Given the description of an element on the screen output the (x, y) to click on. 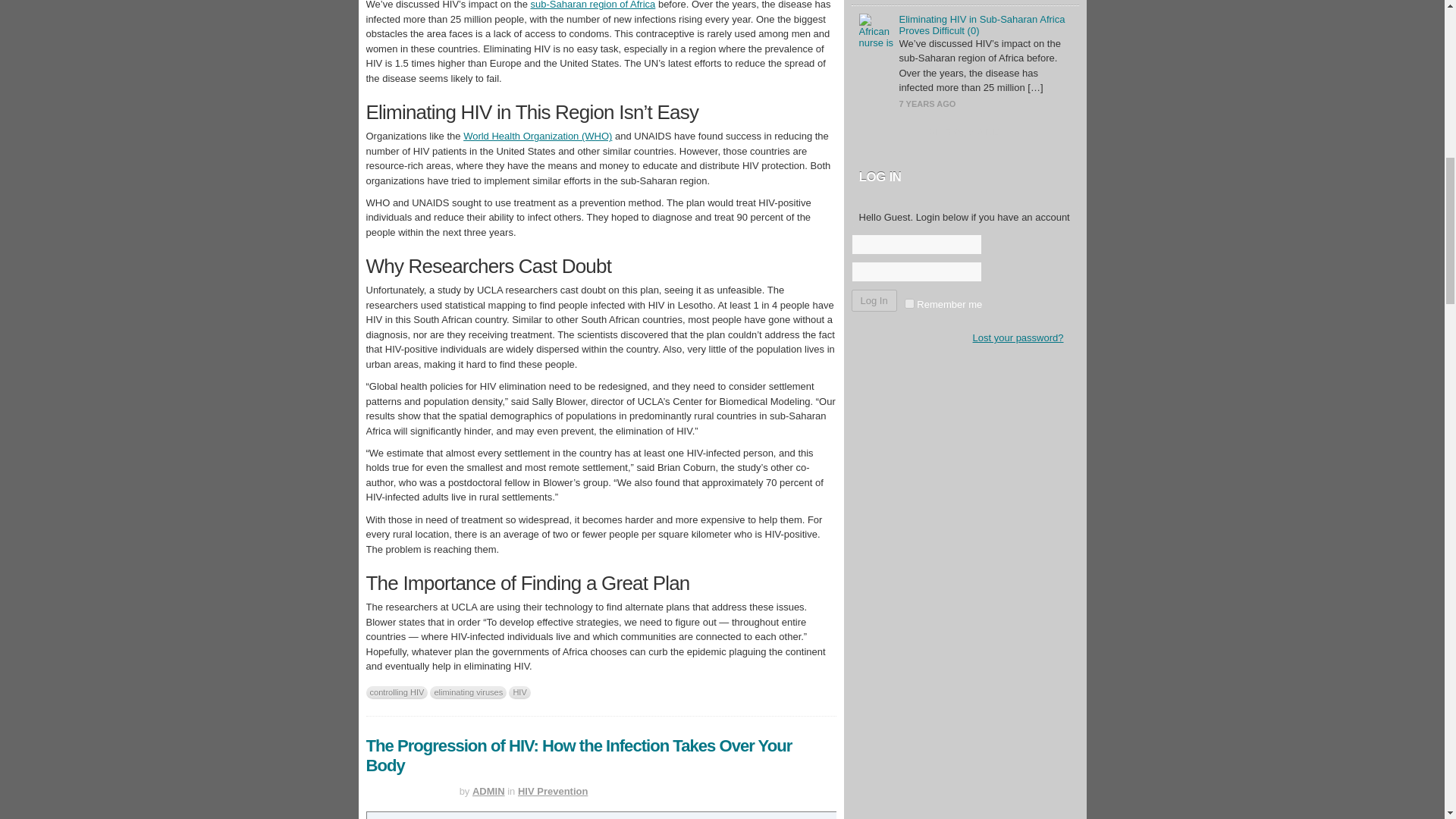
sub-Saharan region of Africa (593, 4)
HIV (518, 692)
HIV Prevention (553, 790)
forever (909, 303)
eliminating viruses (467, 692)
Log In (873, 300)
Posts by ADMIN  (488, 790)
